Given the description of an element on the screen output the (x, y) to click on. 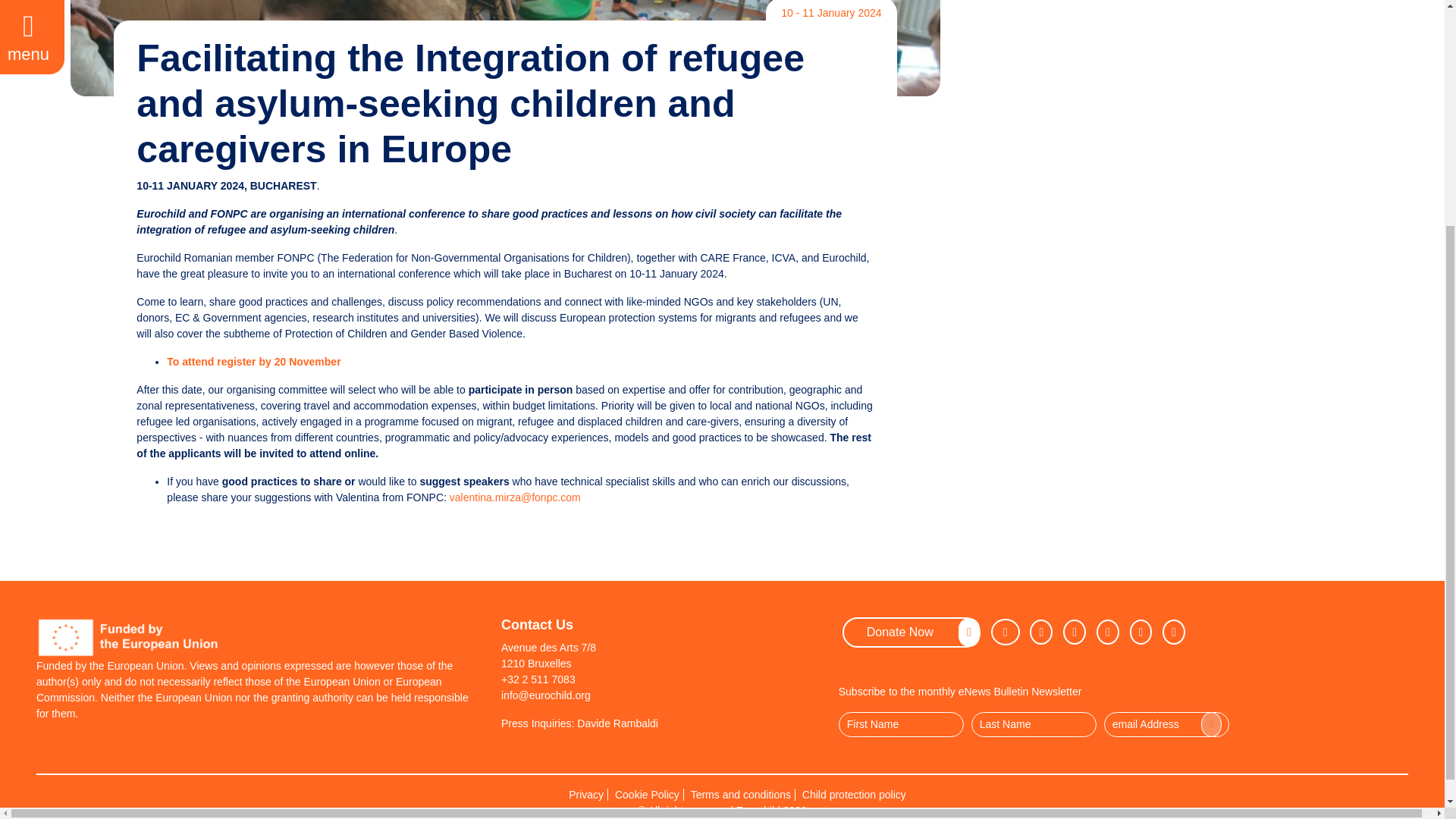
Davide Rambaldi (617, 723)
To attend register by 20 November (253, 361)
Child protection policy (853, 794)
Member Dashboard (1173, 631)
Terms and conditions (740, 794)
Privacy (586, 794)
Cookie Policy (647, 794)
Donate Now (911, 632)
